Given the description of an element on the screen output the (x, y) to click on. 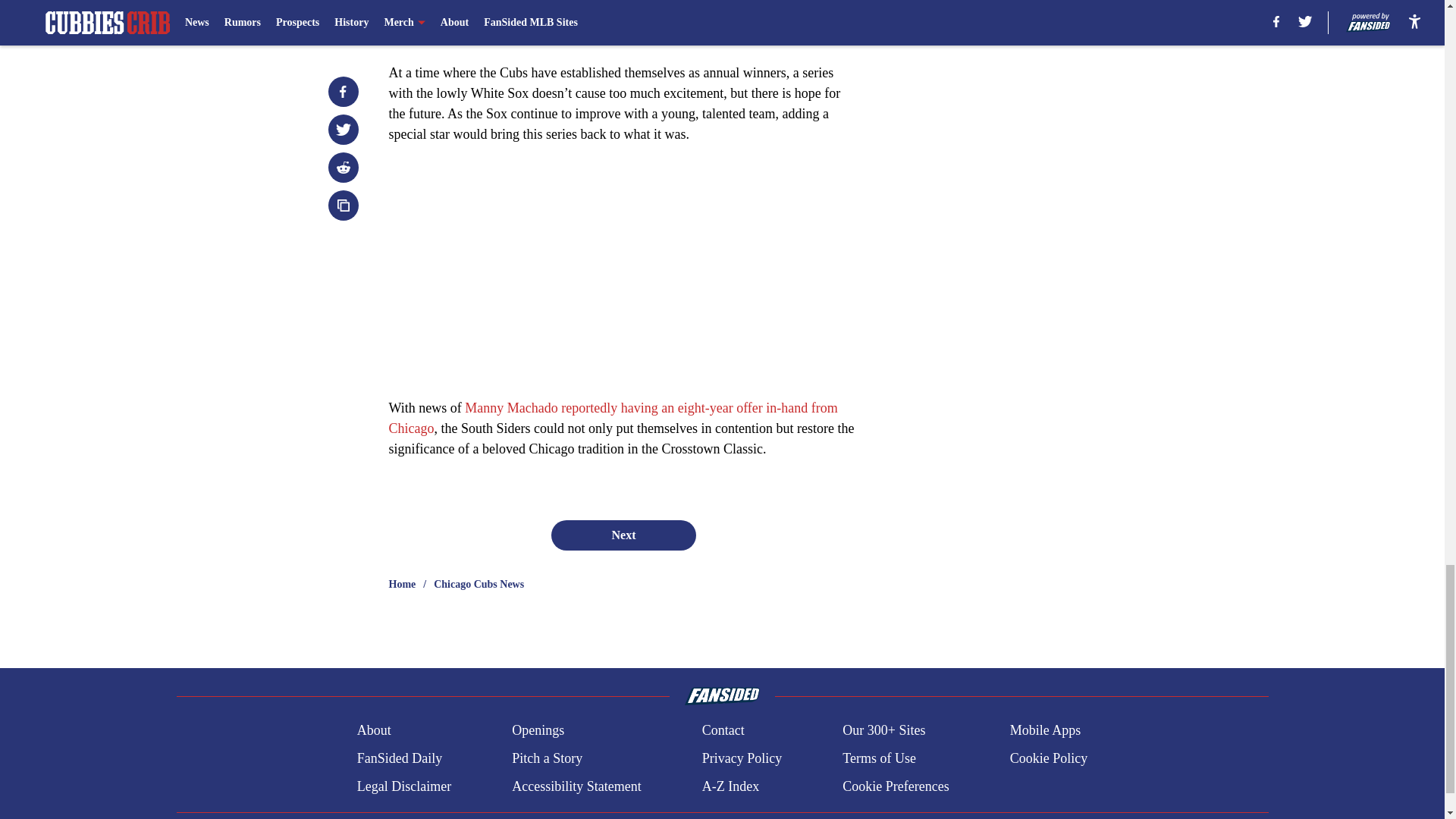
Chicago Cubs News (478, 584)
Pitch a Story (547, 758)
Privacy Policy (742, 758)
Next (622, 535)
Mobile Apps (1045, 730)
reportedly having an eight-year offer in-hand from Chicago (612, 417)
FanSided Daily (399, 758)
About (373, 730)
Contact (722, 730)
Home (401, 584)
